Given the description of an element on the screen output the (x, y) to click on. 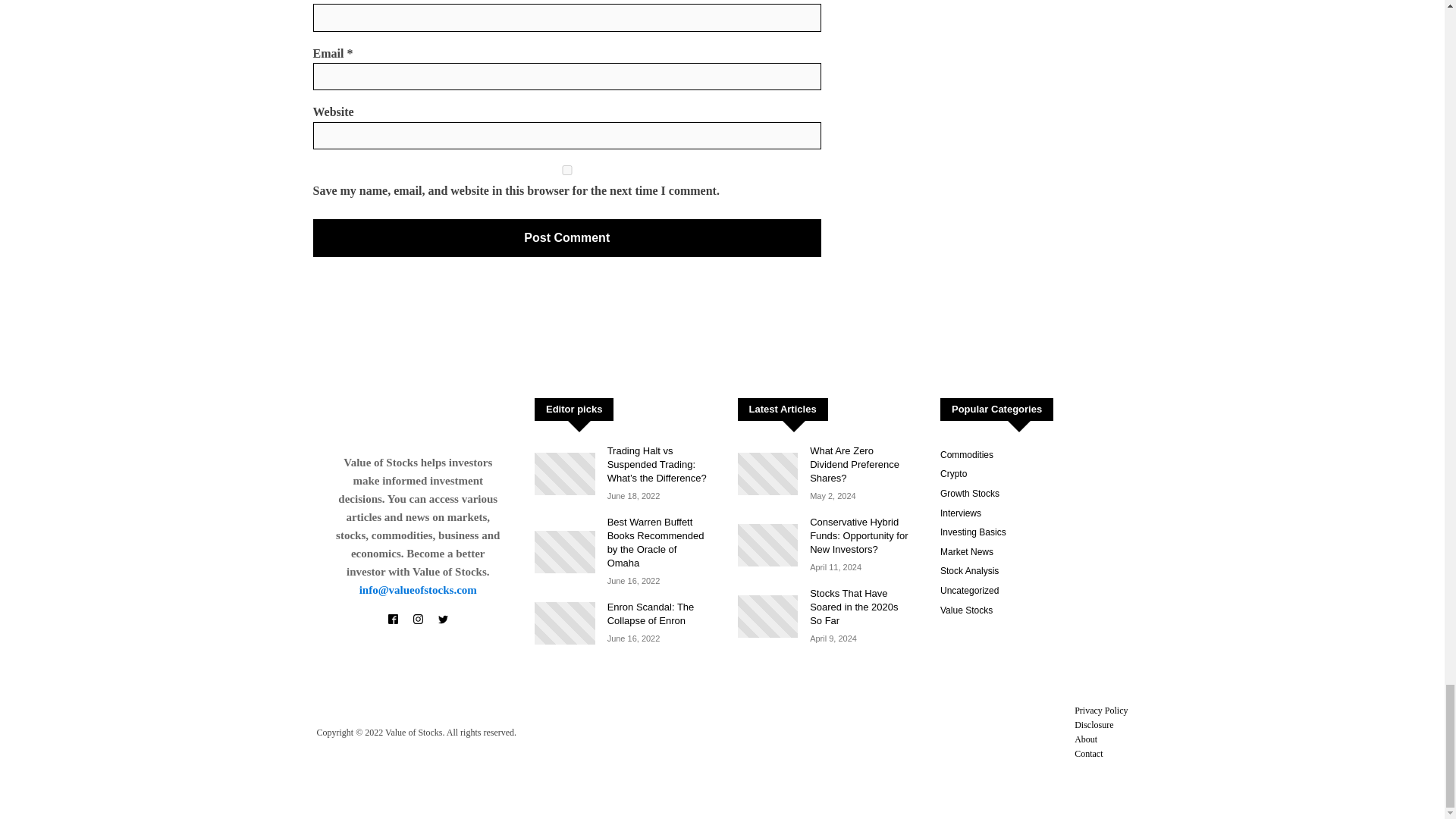
yes (567, 170)
Post Comment (567, 238)
